Given the description of an element on the screen output the (x, y) to click on. 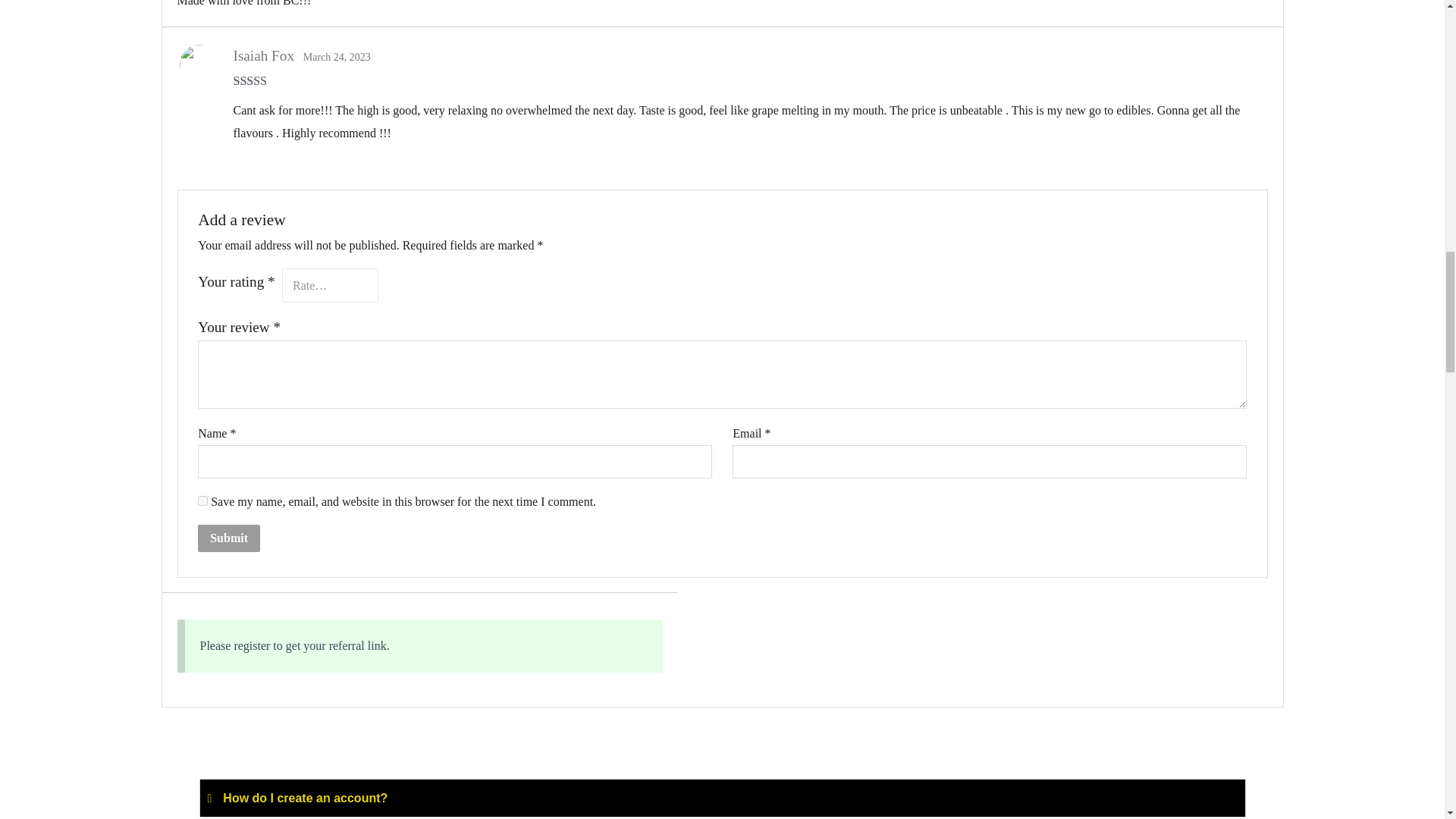
Submit (229, 538)
yes (203, 501)
